Given the description of an element on the screen output the (x, y) to click on. 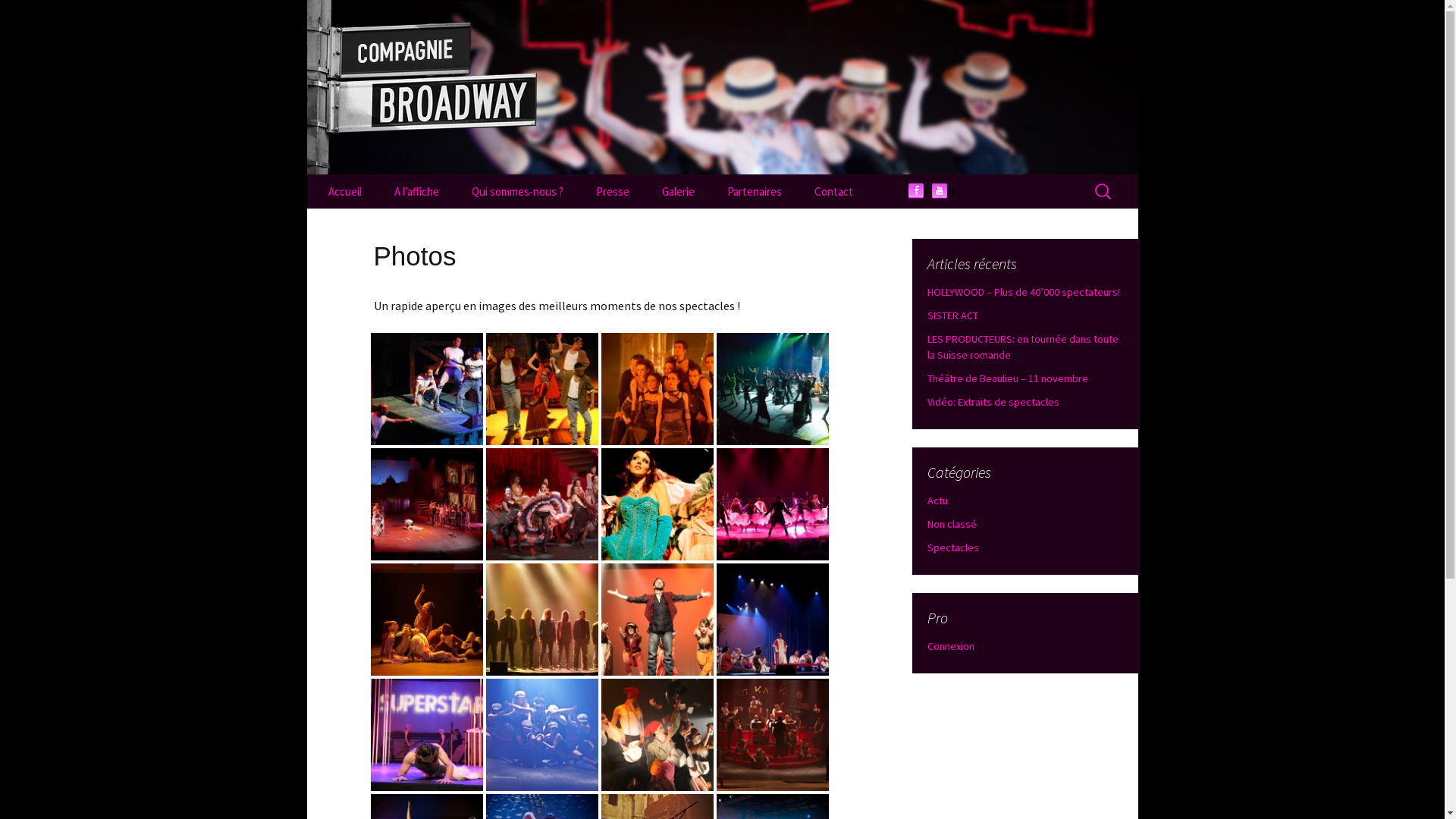
Aller au contenu Element type: text (354, 183)
Rechercher Element type: text (18, 16)
Connexion Element type: text (949, 645)
Qui sommes-nous ? Element type: text (517, 191)
SISTER ACT Element type: text (951, 315)
II Element type: text (946, 191)
Spectacles Element type: text (952, 547)
Partenaires Element type: text (753, 191)
Galerie Element type: text (677, 191)
Presse Element type: text (612, 191)
I Element type: text (923, 191)
Actu Element type: text (936, 500)
Contact Element type: text (833, 191)
Compagnie Broadway Element type: text (721, 87)
Accueil Element type: text (344, 191)
